Given the description of an element on the screen output the (x, y) to click on. 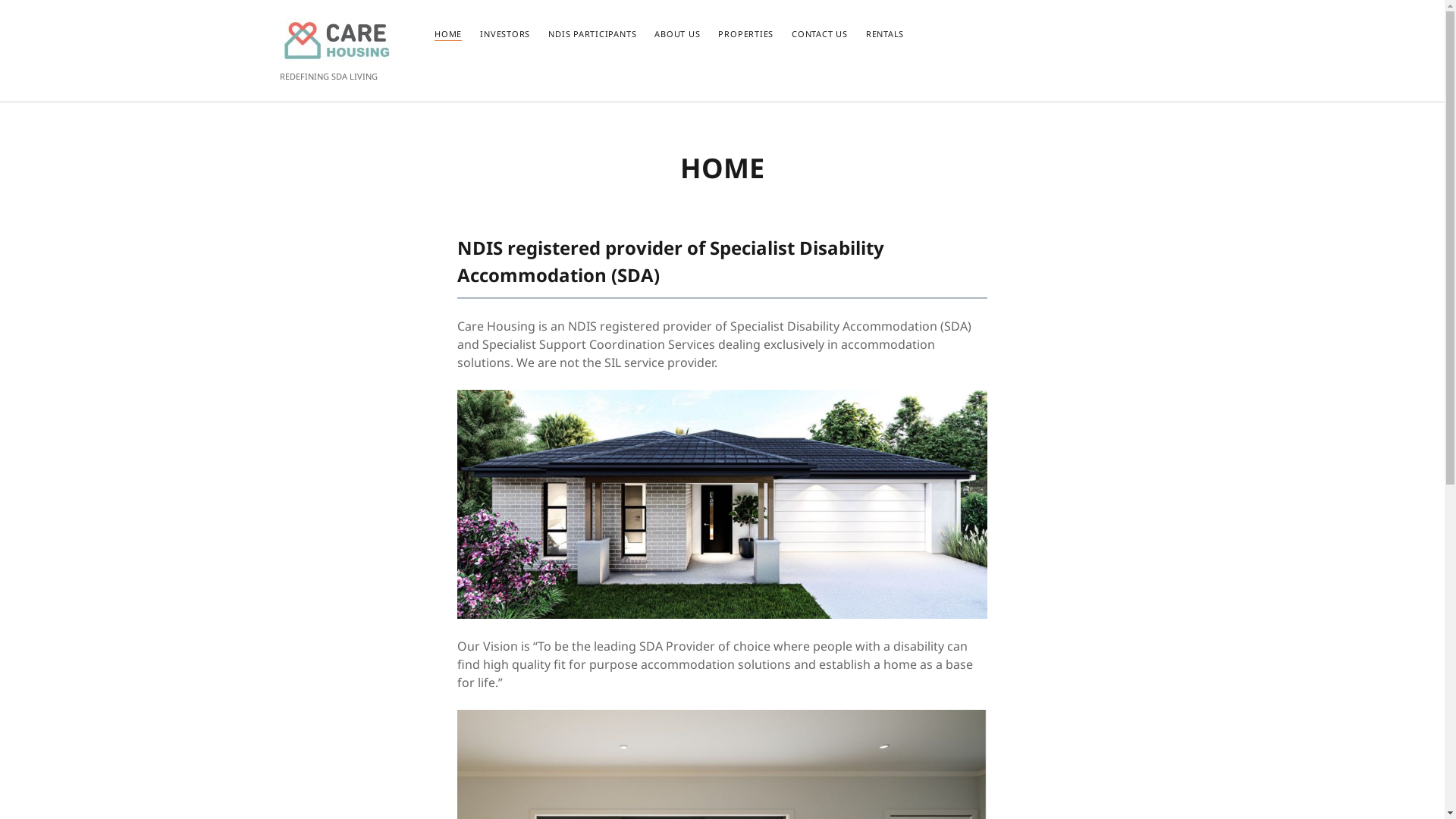
NDIS Specialist Disability Accommodation ( SDA) Provider Element type: text (337, 56)
NDIS PARTICIPANTS Element type: text (592, 34)
HOME Element type: text (447, 34)
INVESTORS Element type: text (505, 34)
RENTALS Element type: text (884, 34)
PROPERTIES Element type: text (745, 34)
CONTACT US Element type: text (819, 34)
ABOUT US Element type: text (676, 34)
